Given the description of an element on the screen output the (x, y) to click on. 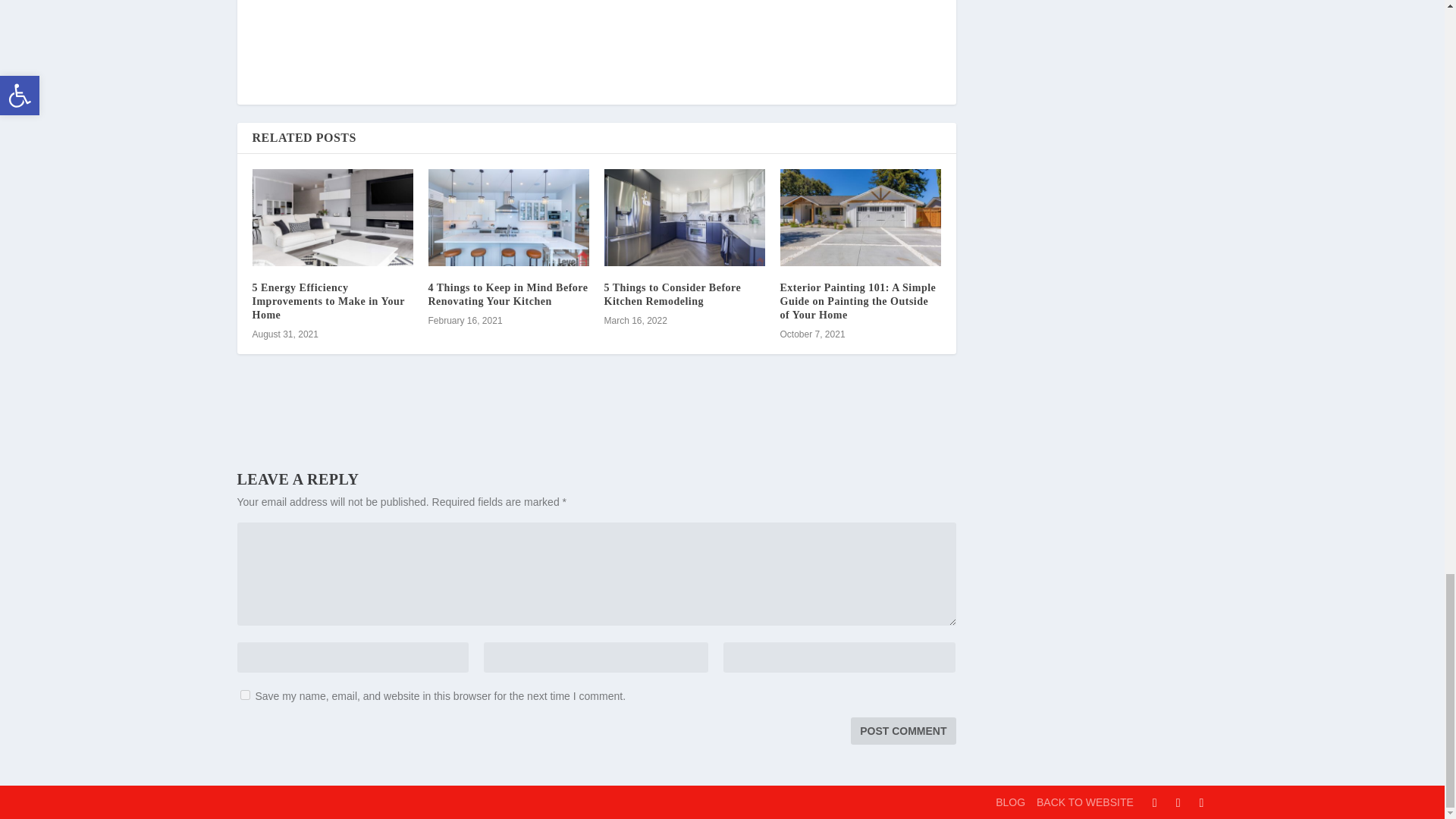
Post Comment (902, 730)
yes (244, 695)
